Given the description of an element on the screen output the (x, y) to click on. 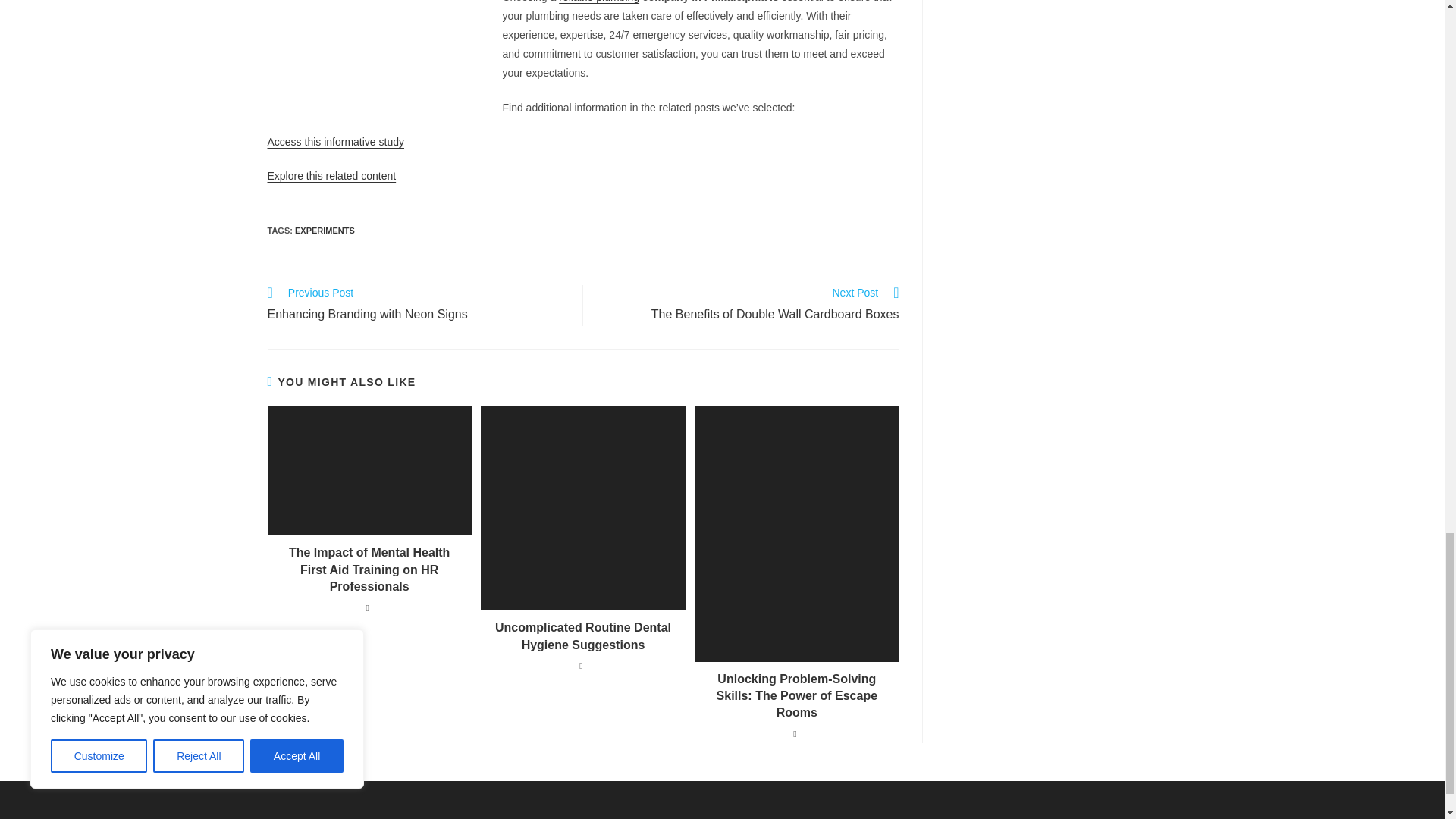
Explore this related content (331, 175)
EXPERIMENTS (325, 230)
reliable plumbing (599, 1)
Access this informative study (416, 305)
